Given the description of an element on the screen output the (x, y) to click on. 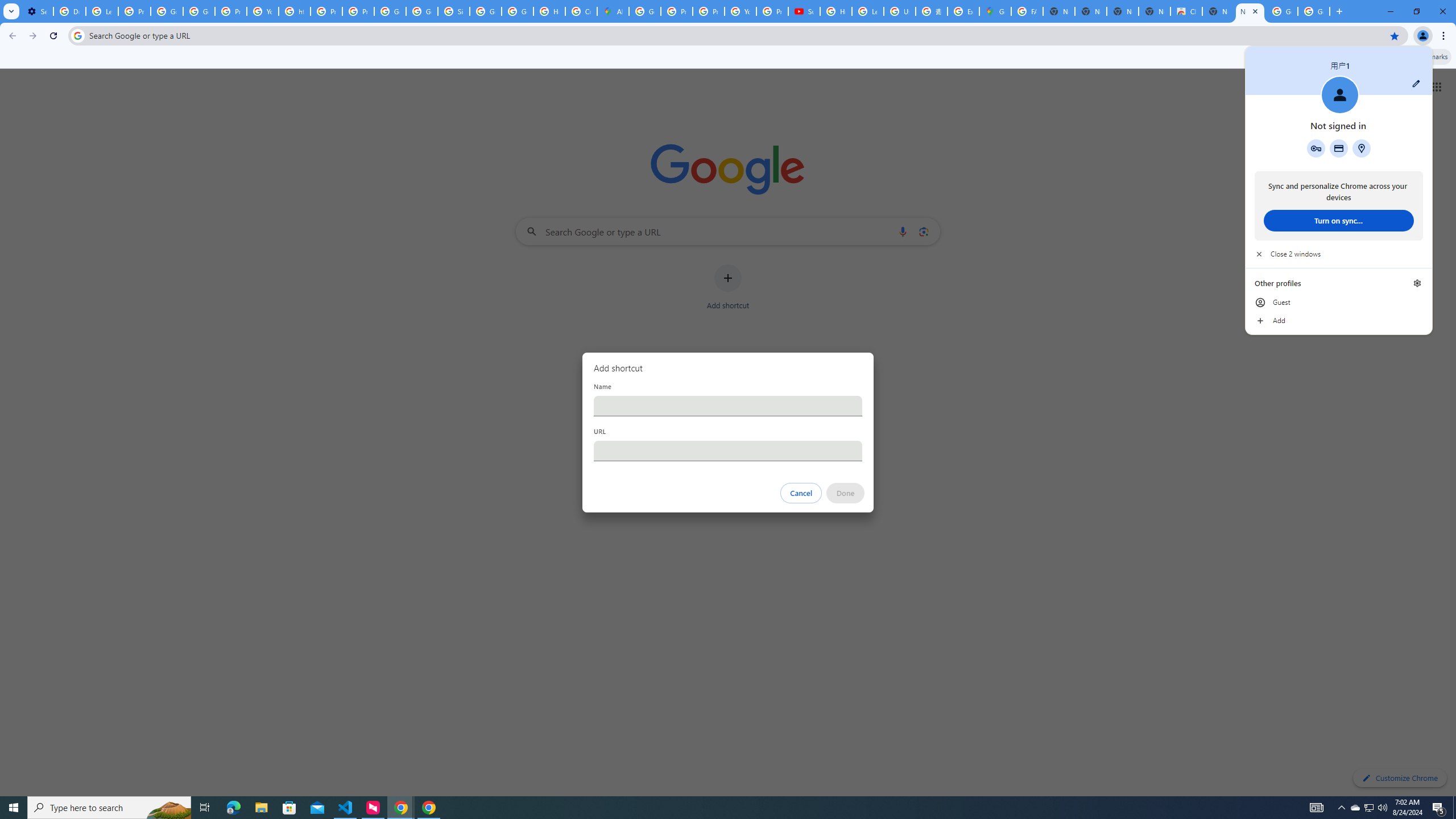
Delete photos & videos - Computer - Google Photos Help (69, 11)
Sign in - Google Accounts (453, 11)
Google Account Help (166, 11)
Addresses and more (1361, 148)
Close 2 windows (1338, 253)
Cancel (801, 493)
Visual Studio Code - 1 running window (345, 807)
Settings - On startup (37, 11)
Name (727, 405)
Add (1338, 321)
Google Chrome - 1 running window (428, 807)
